Given the description of an element on the screen output the (x, y) to click on. 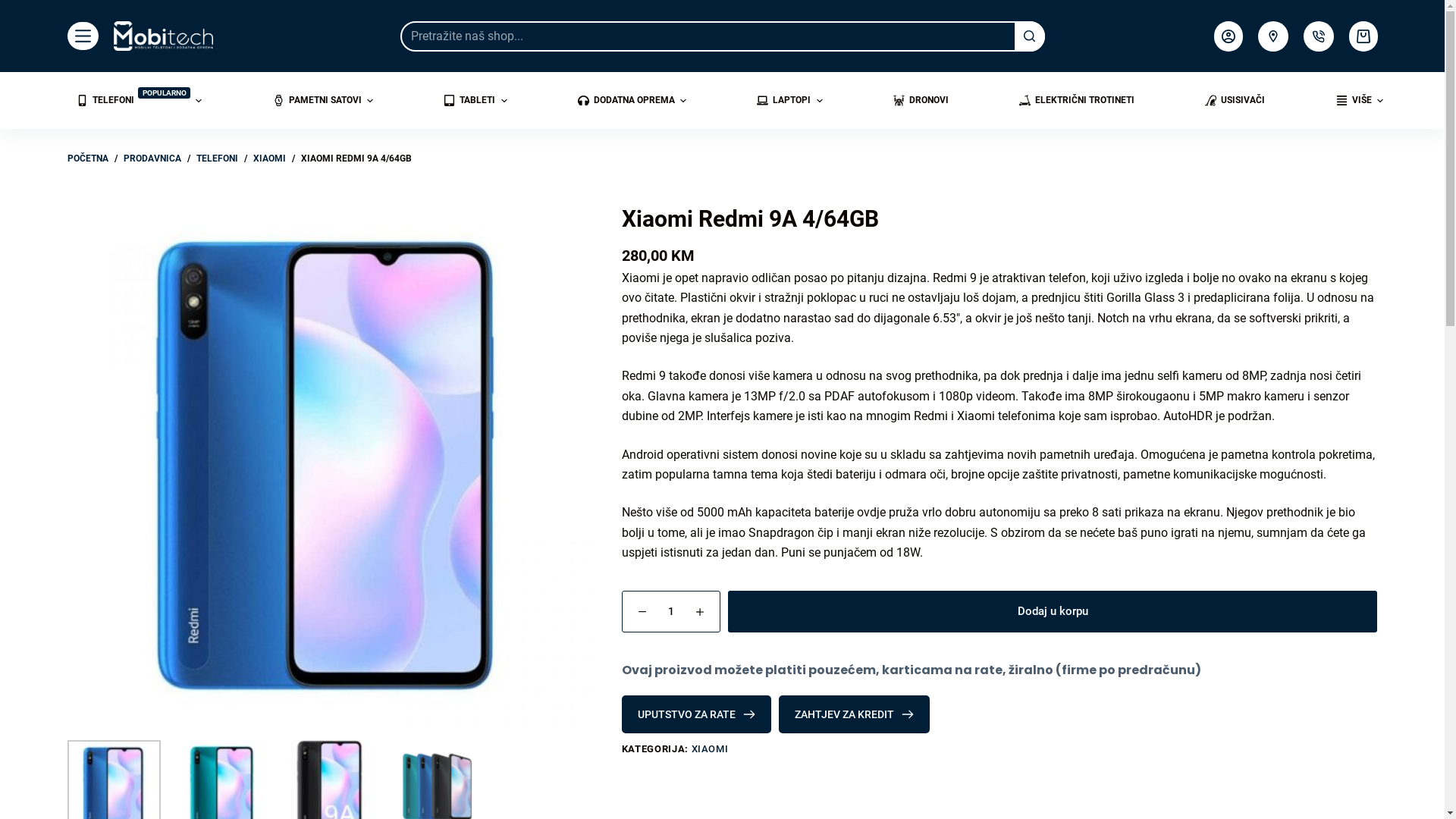
DODATNA OPREMA Element type: text (631, 100)
Search for... Element type: hover (722, 36)
ZAHTJEV ZA KREDIT Element type: text (853, 714)
TABLETI Element type: text (475, 100)
PRODAVNICA Element type: text (151, 158)
XIAOMI Element type: text (709, 748)
xiaomi-redmi-9a-32gb-dual-sim-sky-blue-768x768 Element type: hover (328, 463)
Skip to content Element type: text (15, 7)
Dodaj u korpu Element type: text (1052, 611)
LAPTOPI Element type: text (789, 100)
TELEFONI
POPULARNO Element type: text (138, 100)
PAMETNI SATOVI Element type: text (322, 100)
DRONOVI Element type: text (920, 100)
1961 Element type: text (1327, 43)
UPUTSTVO ZA RATE Element type: text (696, 714)
XIAOMI Element type: text (269, 158)
TELEFONI Element type: text (216, 158)
